Given the description of an element on the screen output the (x, y) to click on. 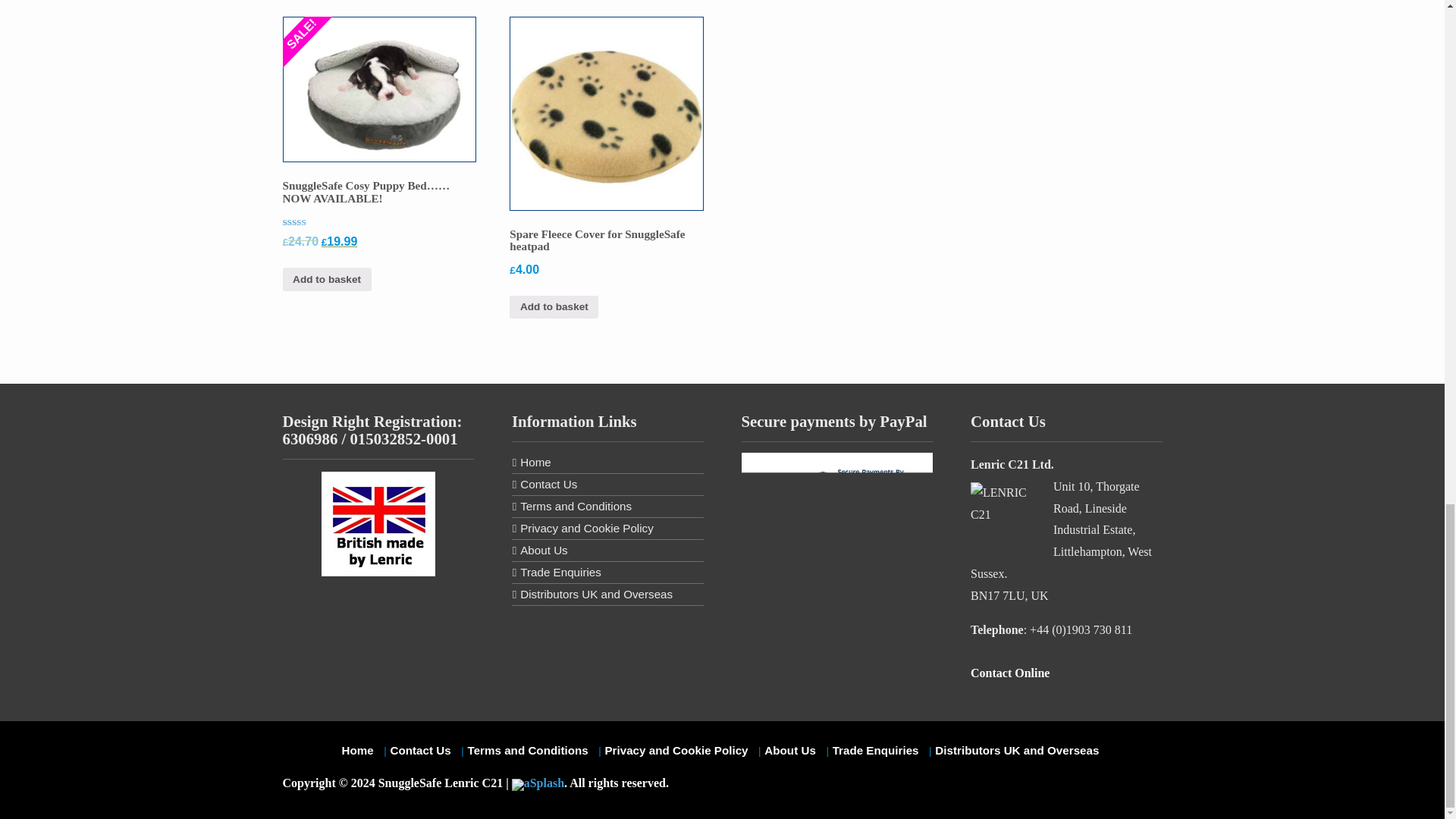
Secure payments by PayPal - No PayPal Account Needed (837, 497)
LENRIC C21 (1000, 505)
aSplash (538, 782)
Made in the UK (378, 523)
Email (1066, 673)
